Given the description of an element on the screen output the (x, y) to click on. 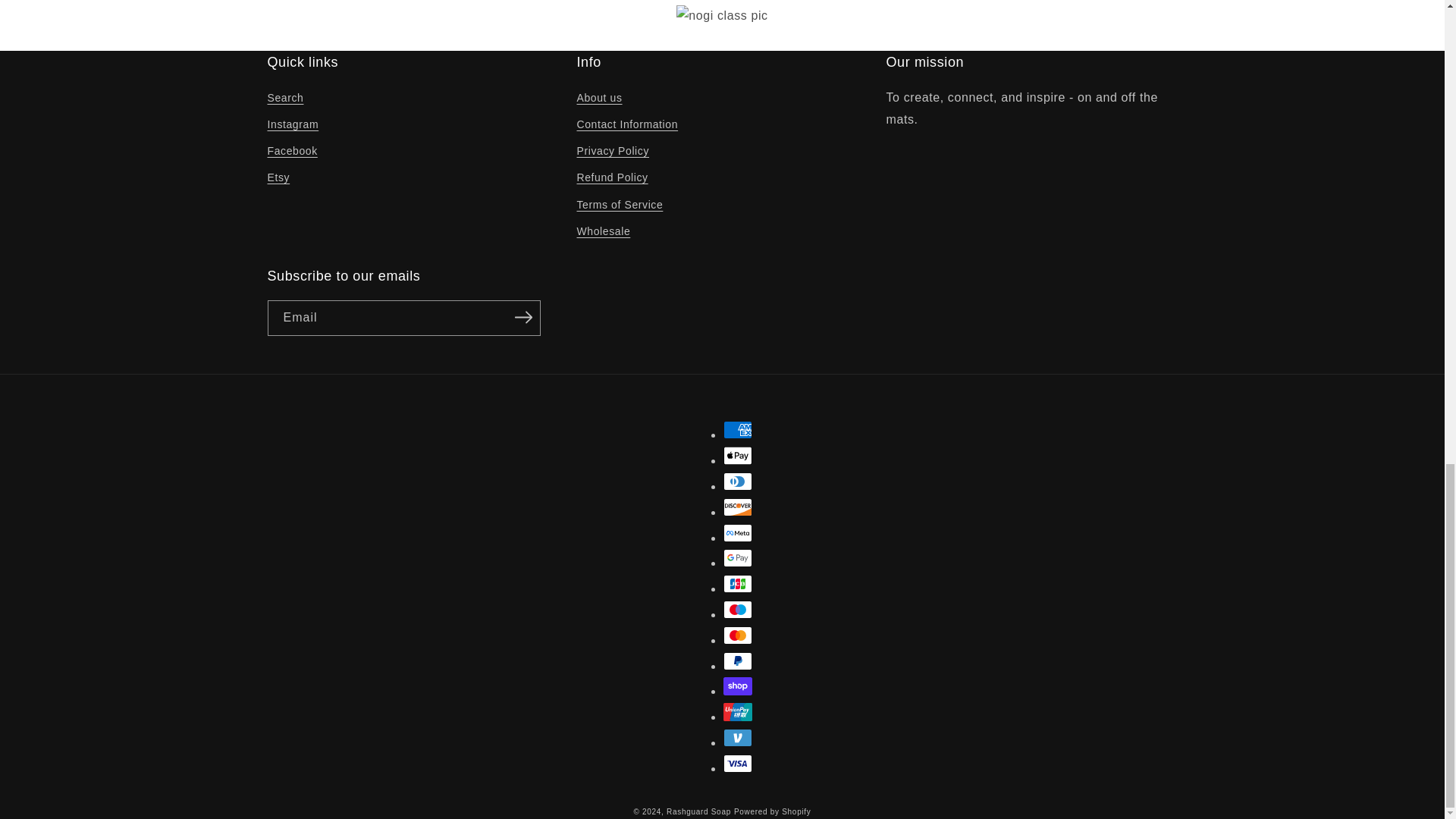
Union Pay (737, 711)
PayPal (737, 660)
Maestro (737, 609)
Google Pay (737, 557)
Instagram (292, 124)
Facebook (291, 151)
Contact Information (627, 124)
American Express (737, 429)
Venmo (737, 737)
About us (598, 99)
Refund Policy (611, 177)
Wholesale (603, 231)
Rashguard Soap (698, 811)
Terms of Service (619, 204)
JCB (737, 583)
